Given the description of an element on the screen output the (x, y) to click on. 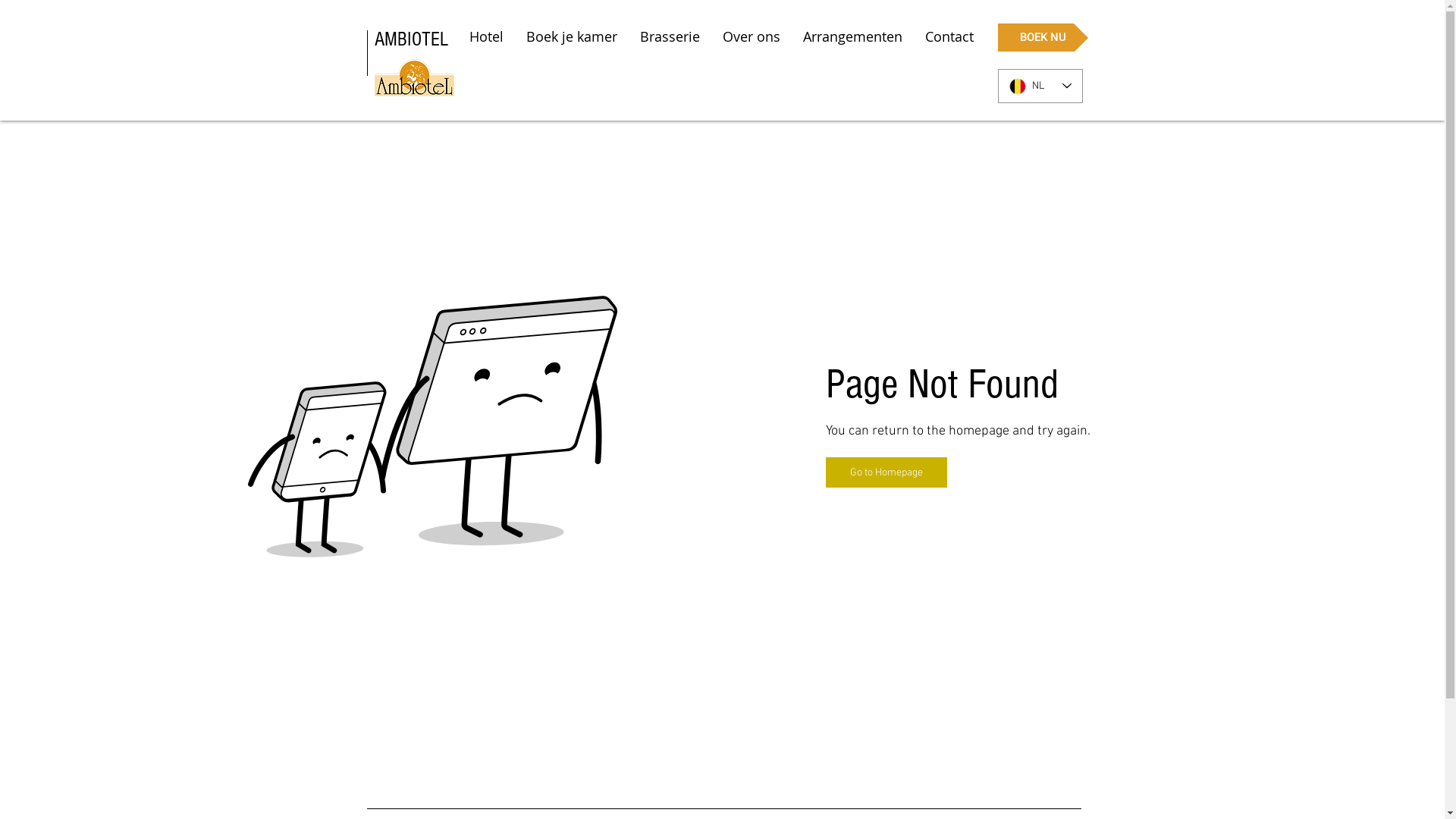
Hotel Element type: text (486, 36)
Contact Element type: text (948, 36)
Go to Homepage Element type: text (886, 472)
AMBIOTEL Element type: text (411, 39)
BOEK NU Element type: text (1042, 37)
Arrangementen Element type: text (852, 36)
Boek je kamer Element type: text (570, 36)
Over ons Element type: text (751, 36)
Brasserie Element type: text (668, 36)
